Given the description of an element on the screen output the (x, y) to click on. 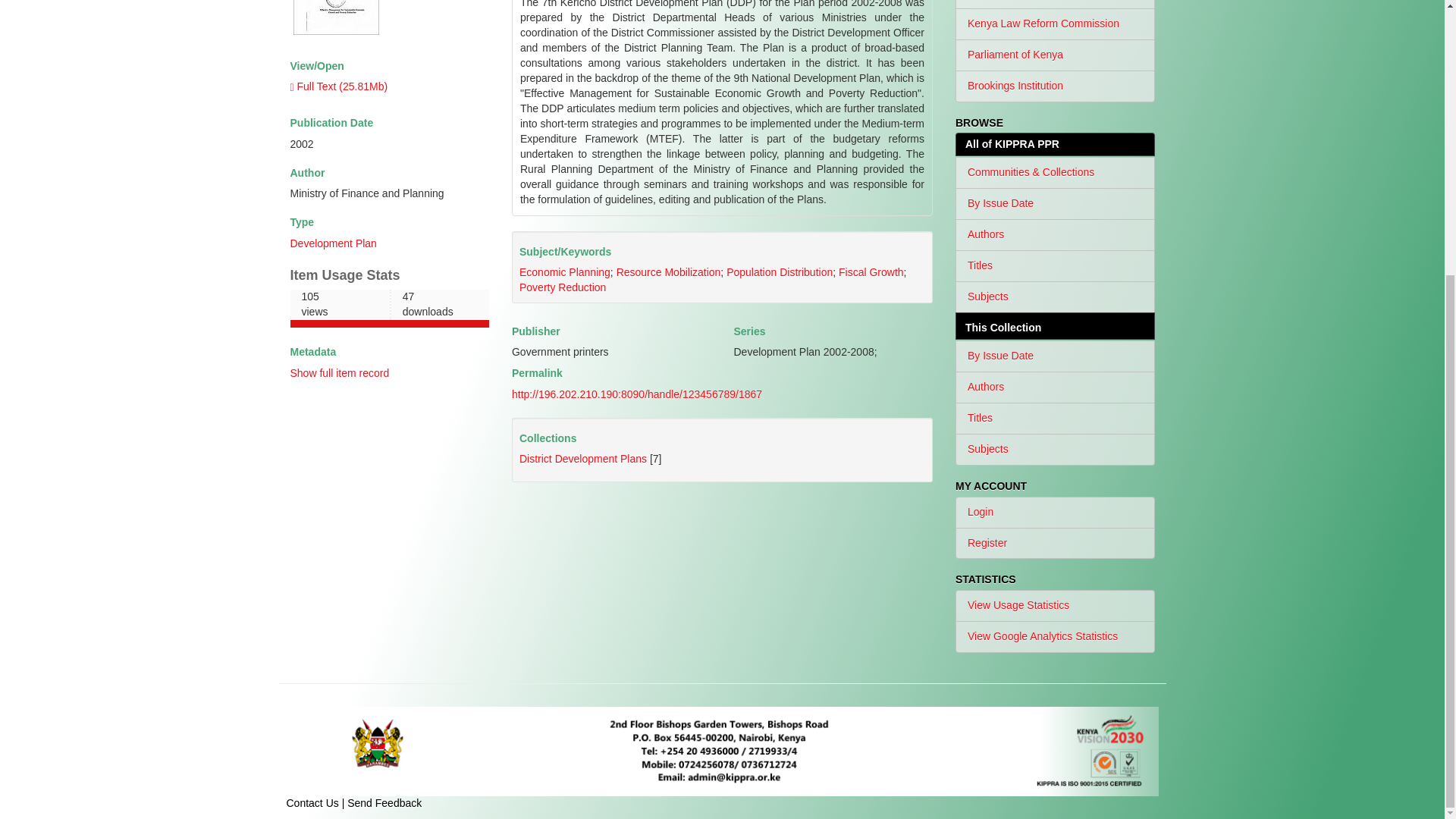
Population Distribution (779, 272)
Economic Planning (564, 272)
Development Plan (388, 308)
District Development Plans (332, 243)
Poverty Reduction (582, 458)
Fiscal Growth (562, 287)
Resource Mobilization (871, 272)
KIPPRA (667, 272)
Show full item record (722, 751)
